Given the description of an element on the screen output the (x, y) to click on. 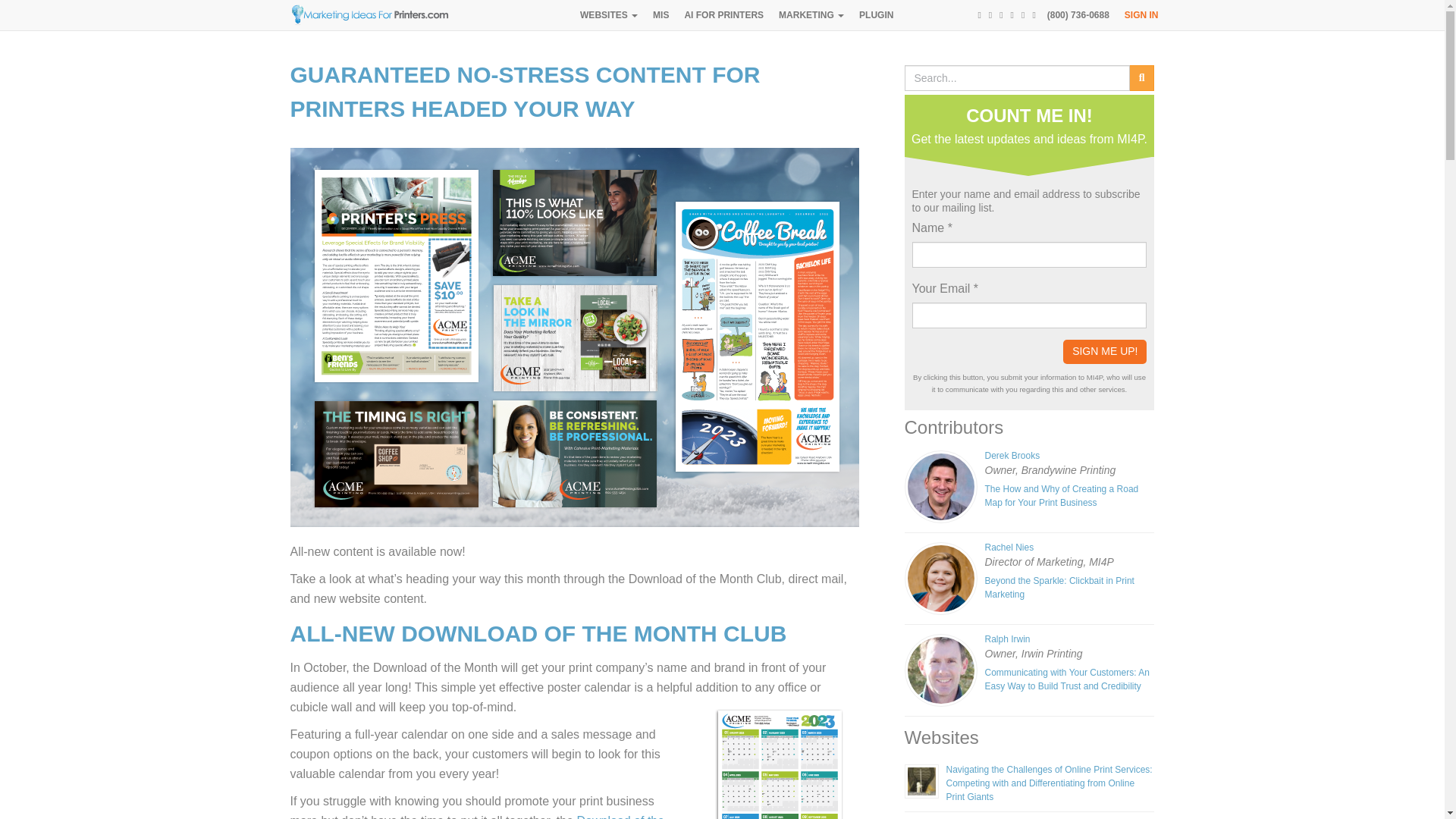
MIS (661, 15)
Sign Me Up! (1104, 351)
Websites (608, 15)
AI FOR PRINTERS (724, 15)
AI For Printers (724, 15)
Marketing (811, 15)
WEBSITES (608, 15)
MARKETING (811, 15)
MIS (661, 15)
PLUGIN (876, 15)
